Given the description of an element on the screen output the (x, y) to click on. 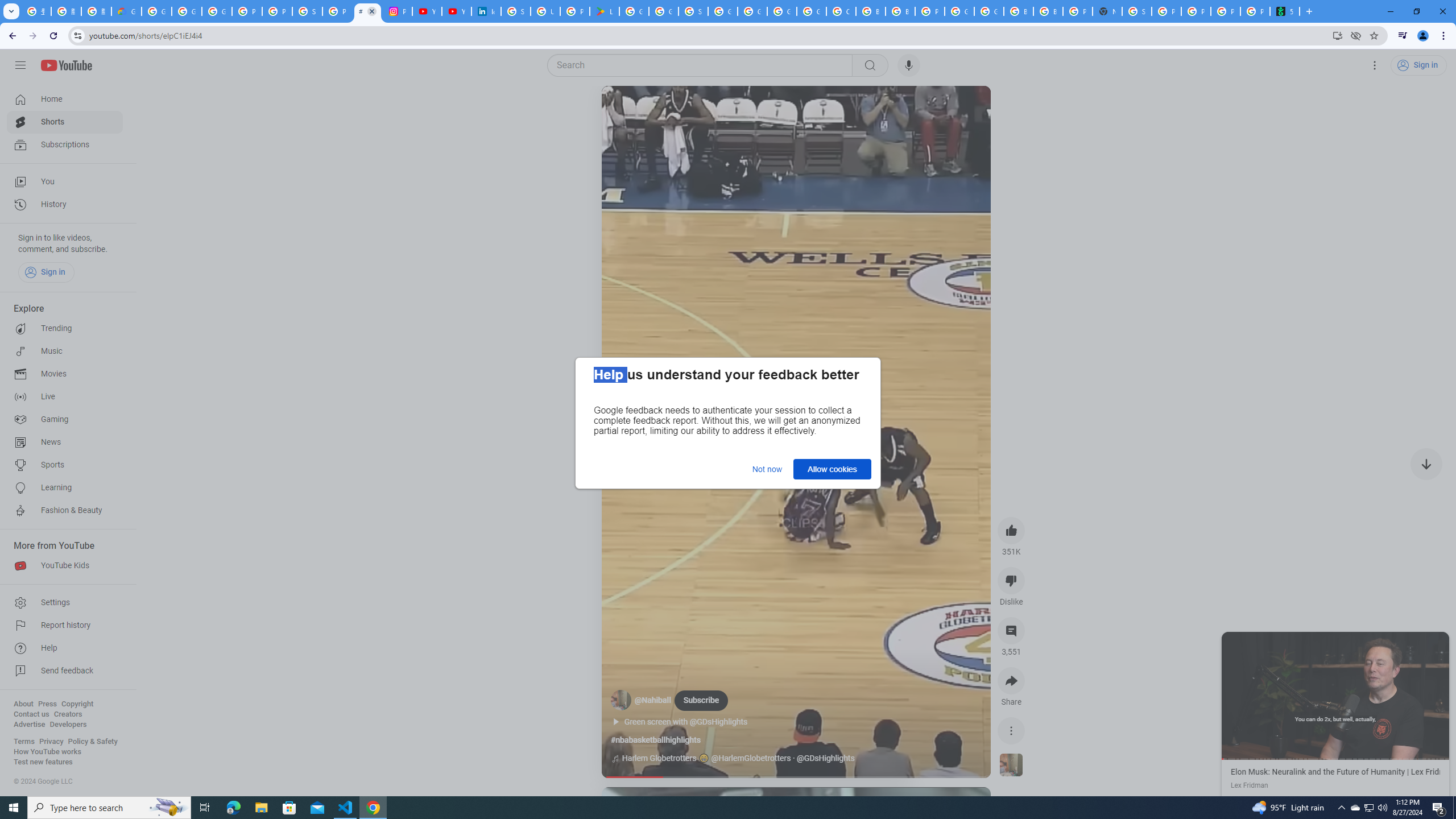
Send feedback (64, 671)
#nbabasketballhighlights - YouTube (367, 11)
Copyright (77, 703)
